Given the description of an element on the screen output the (x, y) to click on. 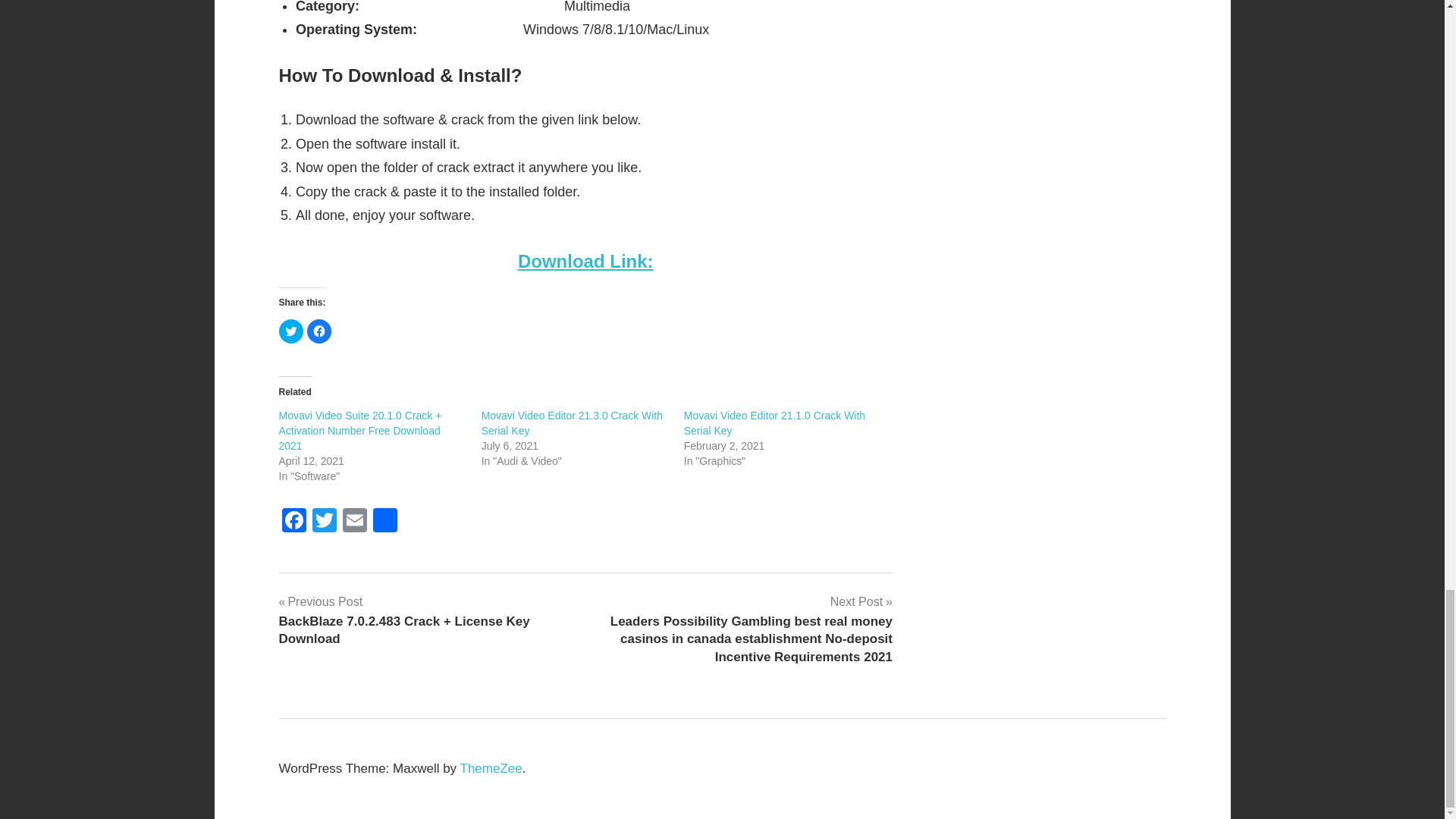
Click to share on Facebook (317, 331)
Twitter (323, 521)
Facebook (293, 521)
Download Link: (585, 260)
Movavi Video Editor 21.3.0 Crack With Serial Key (571, 422)
Movavi Video Editor 21.3.0 Crack With Serial Key (571, 422)
Email (354, 521)
ThemeZee (491, 768)
Email (354, 521)
Facebook (293, 521)
